Given the description of an element on the screen output the (x, y) to click on. 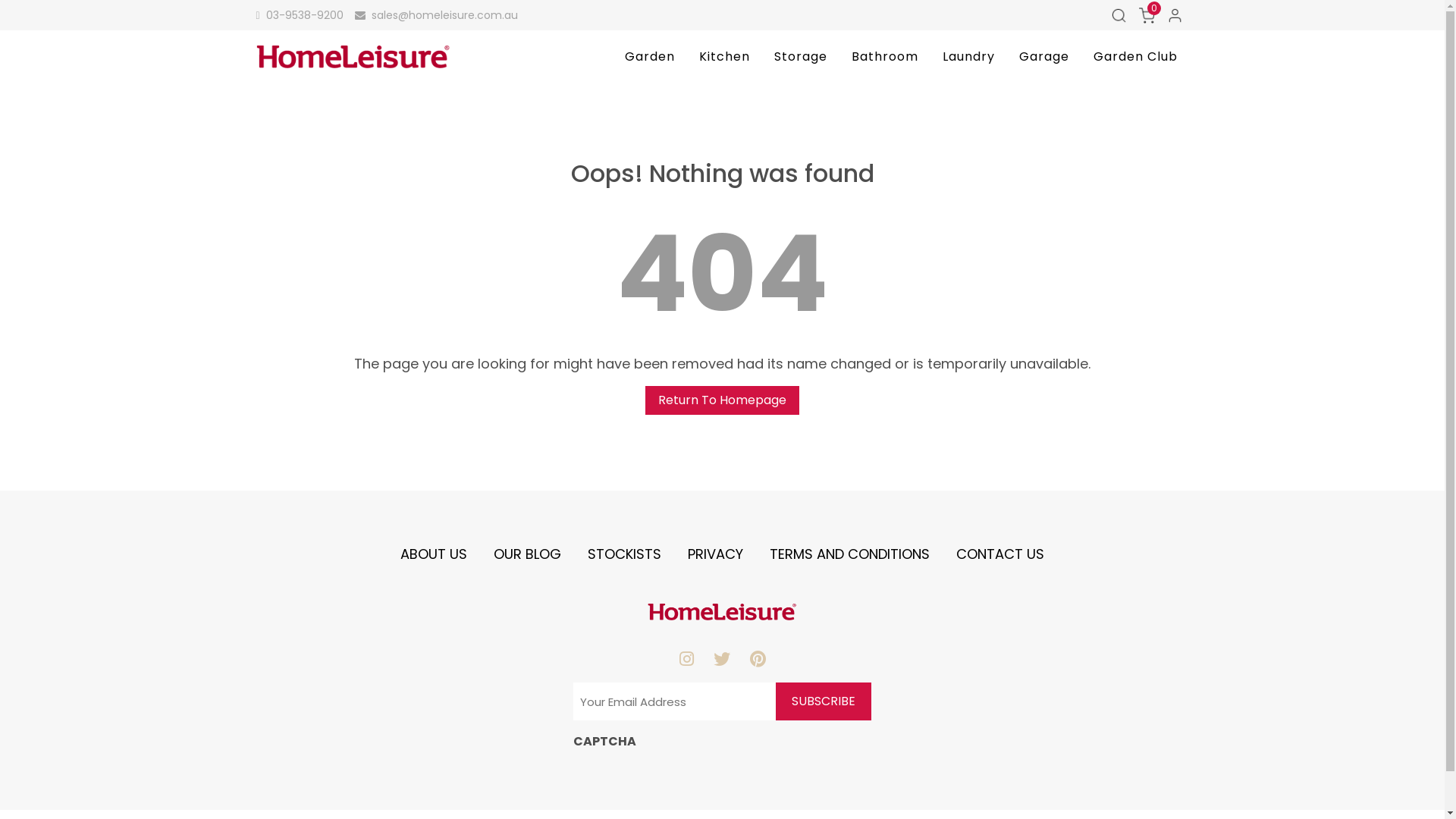
Storage Element type: text (800, 56)
STOCKISTS Element type: text (624, 553)
sales@homeleisure.com.au Element type: text (435, 14)
Kitchen Element type: text (724, 56)
0 Element type: text (1146, 14)
Return To Homepage Element type: text (722, 399)
PRIVACY Element type: text (715, 553)
Garden Club Element type: text (1135, 56)
Garden Element type: text (649, 56)
OUR BLOG Element type: text (527, 553)
Laundry Element type: text (968, 56)
03-9538-9200 Element type: text (299, 14)
Bathroom Element type: text (884, 56)
TERMS AND CONDITIONS Element type: text (849, 553)
CONTACT US Element type: text (1000, 553)
Homeleisure Element type: text (596, 71)
Garage Element type: text (1043, 56)
ABOUT US Element type: text (433, 553)
Subscribe Element type: text (823, 701)
